Given the description of an element on the screen output the (x, y) to click on. 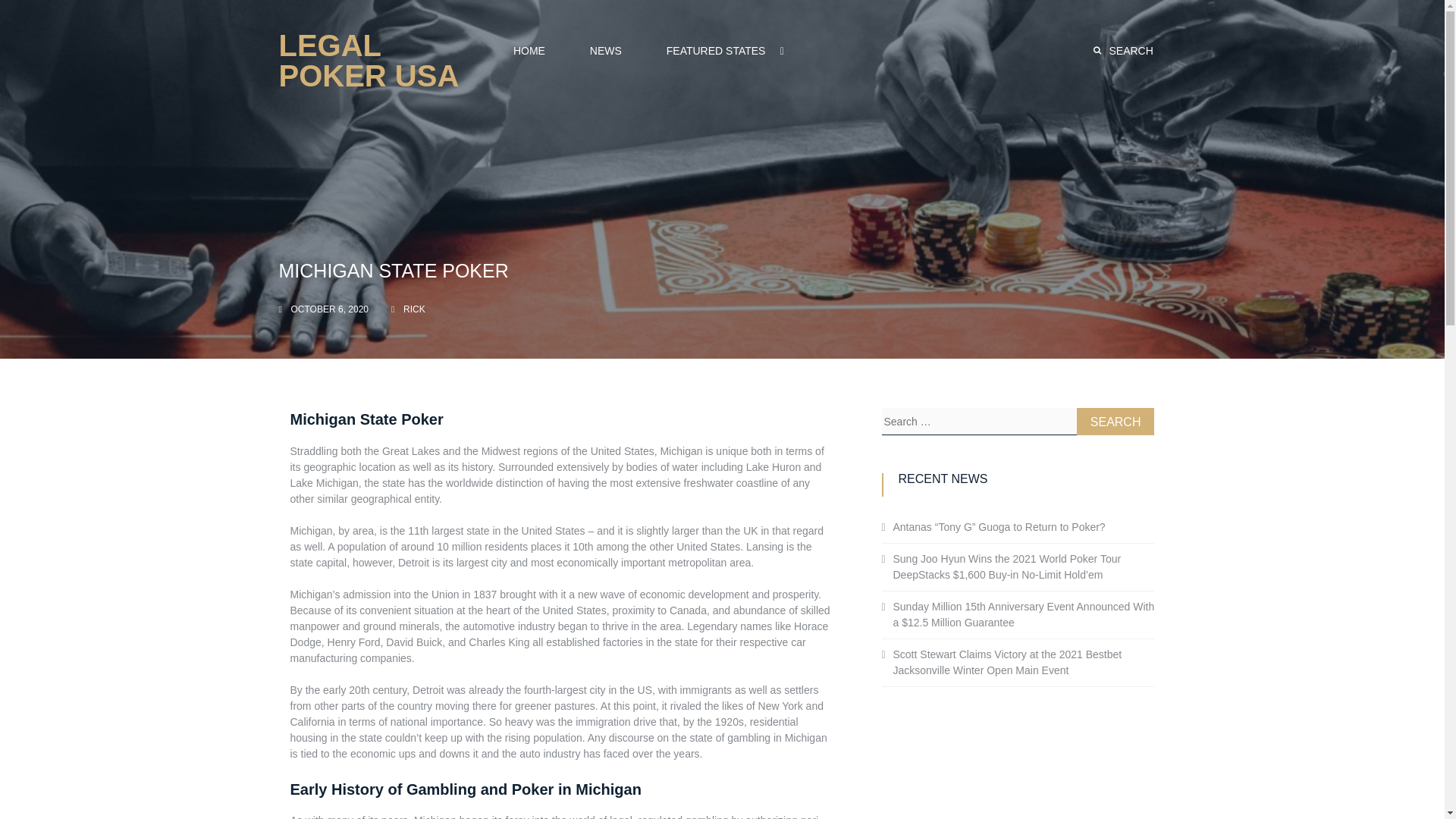
Search (1115, 420)
OCTOBER 6, 2020 (330, 308)
Search (1115, 420)
RICK (414, 308)
HOME (529, 50)
Search (1115, 420)
FEATURED STATES (715, 50)
NEWS (605, 50)
LEGAL POKER USA (369, 60)
